Given the description of an element on the screen output the (x, y) to click on. 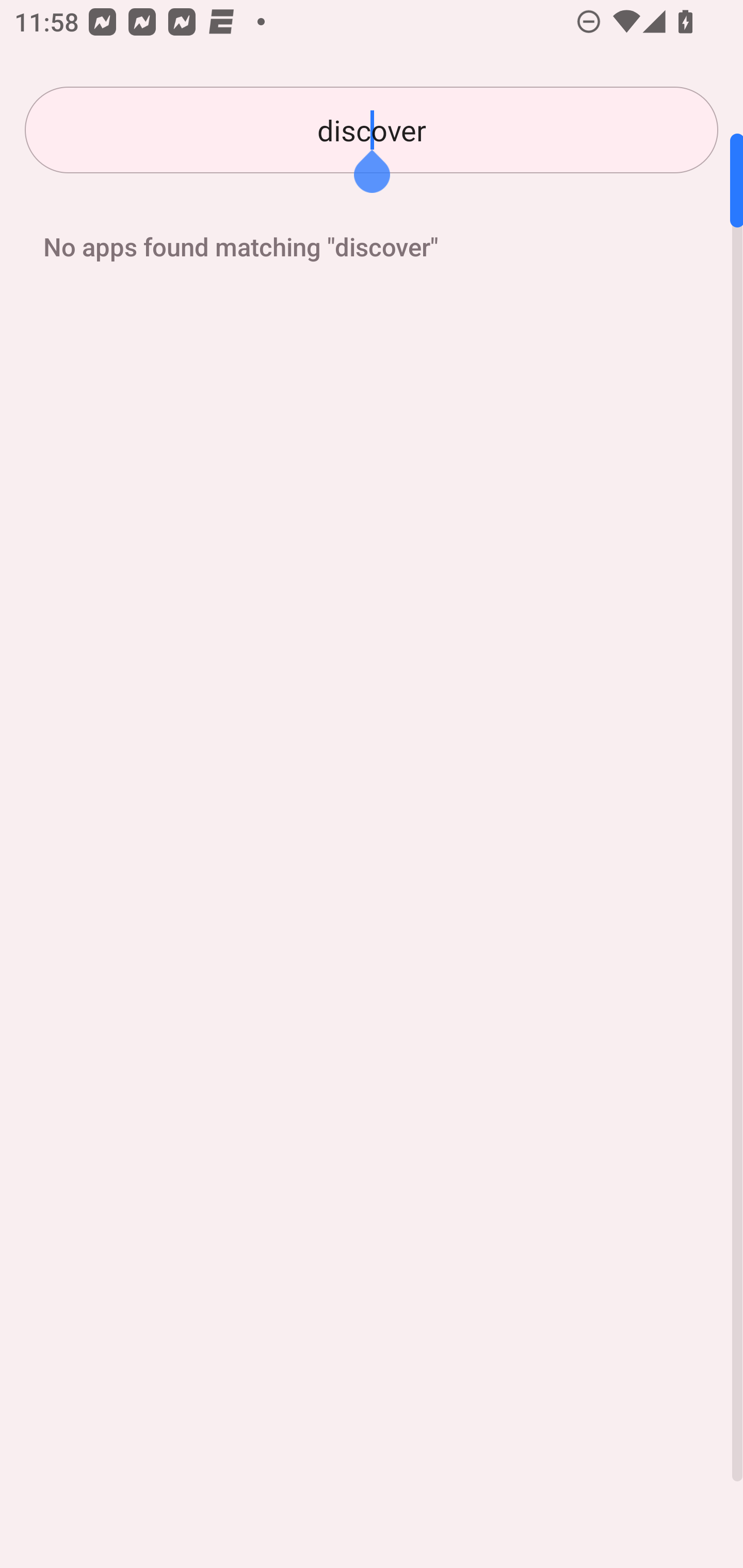
discover (371, 130)
